Given the description of an element on the screen output the (x, y) to click on. 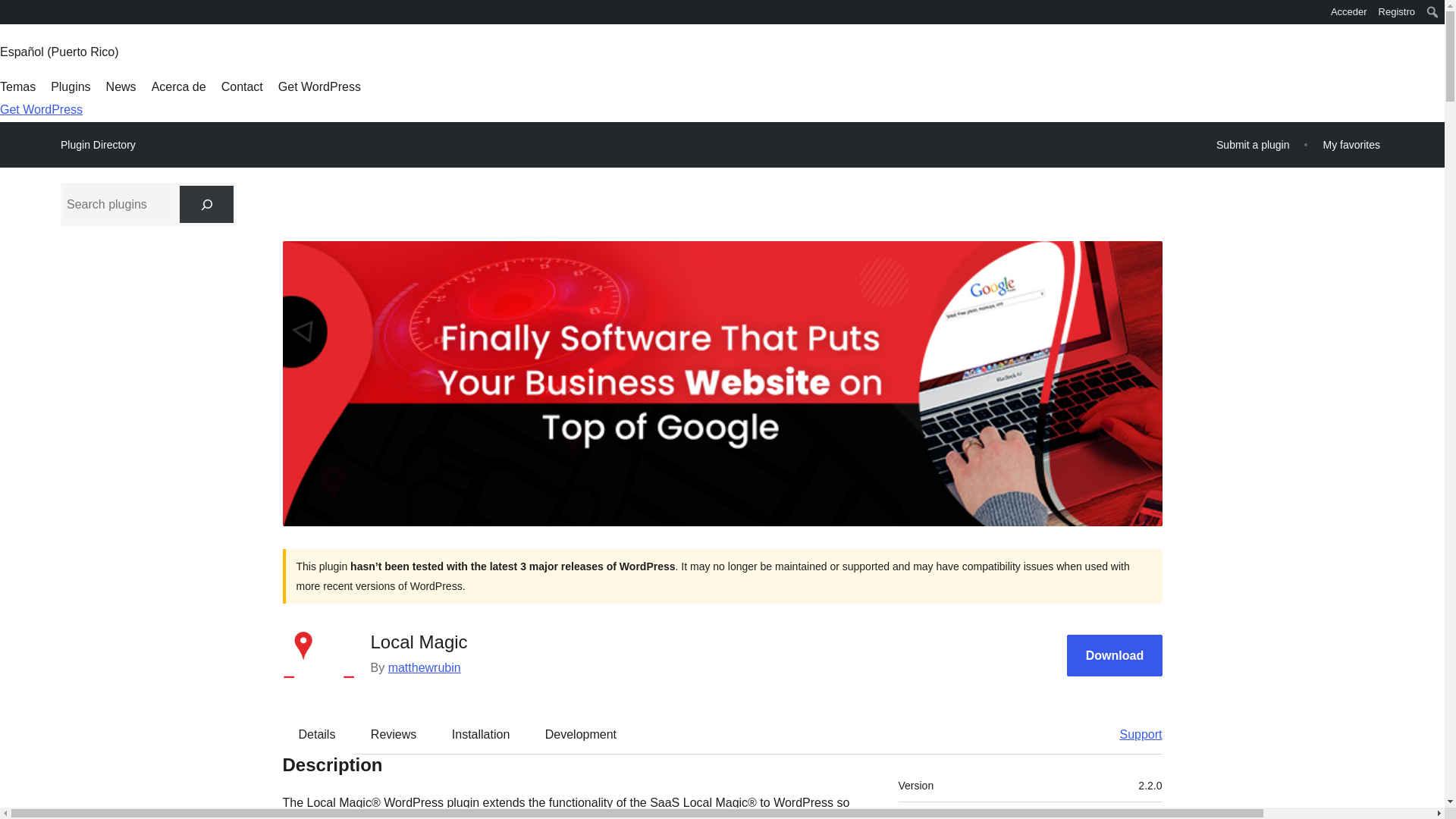
News (121, 87)
Support (1132, 733)
Submit a plugin (1253, 144)
Get WordPress (319, 87)
Download (1114, 655)
Development (580, 733)
Registro (1397, 12)
Temas (17, 87)
Details (316, 733)
matthewrubin (424, 667)
